Given the description of an element on the screen output the (x, y) to click on. 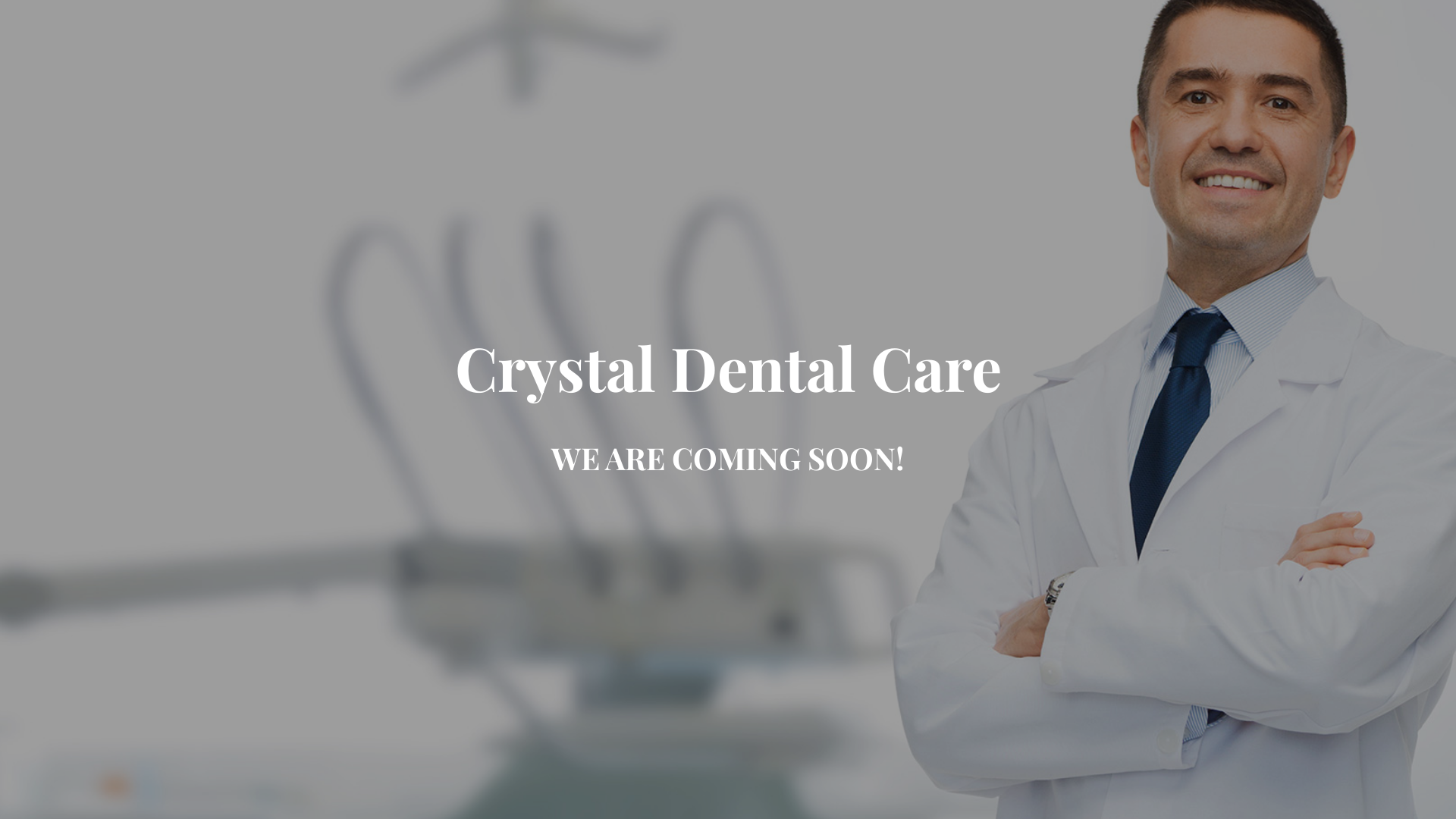
Crystal Dental Care Element type: text (728, 380)
